Given the description of an element on the screen output the (x, y) to click on. 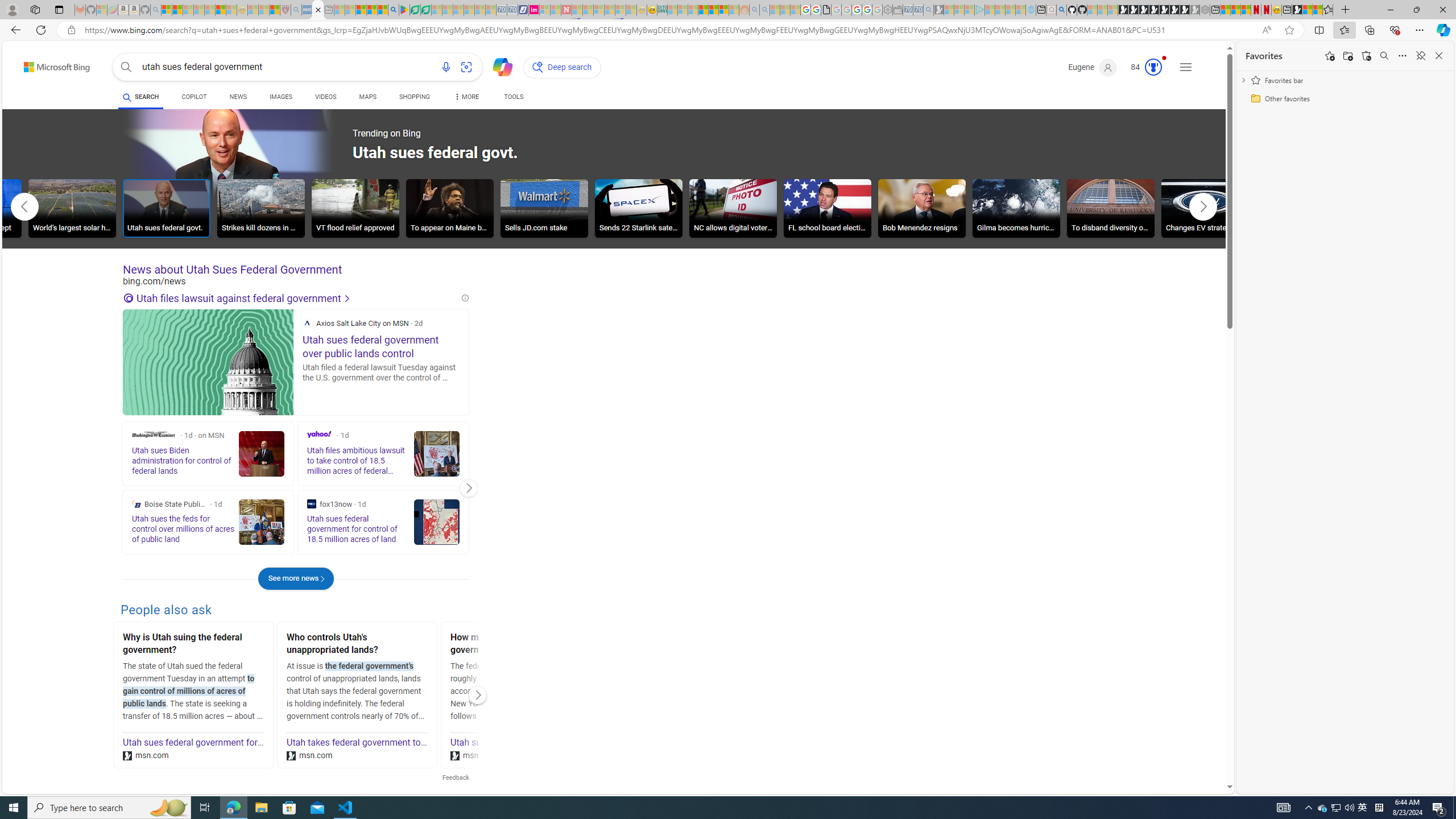
Unpin favorites (1420, 55)
Search favorites (1383, 55)
Who controls Utah's unappropriated lands? (357, 645)
